Given the description of an element on the screen output the (x, y) to click on. 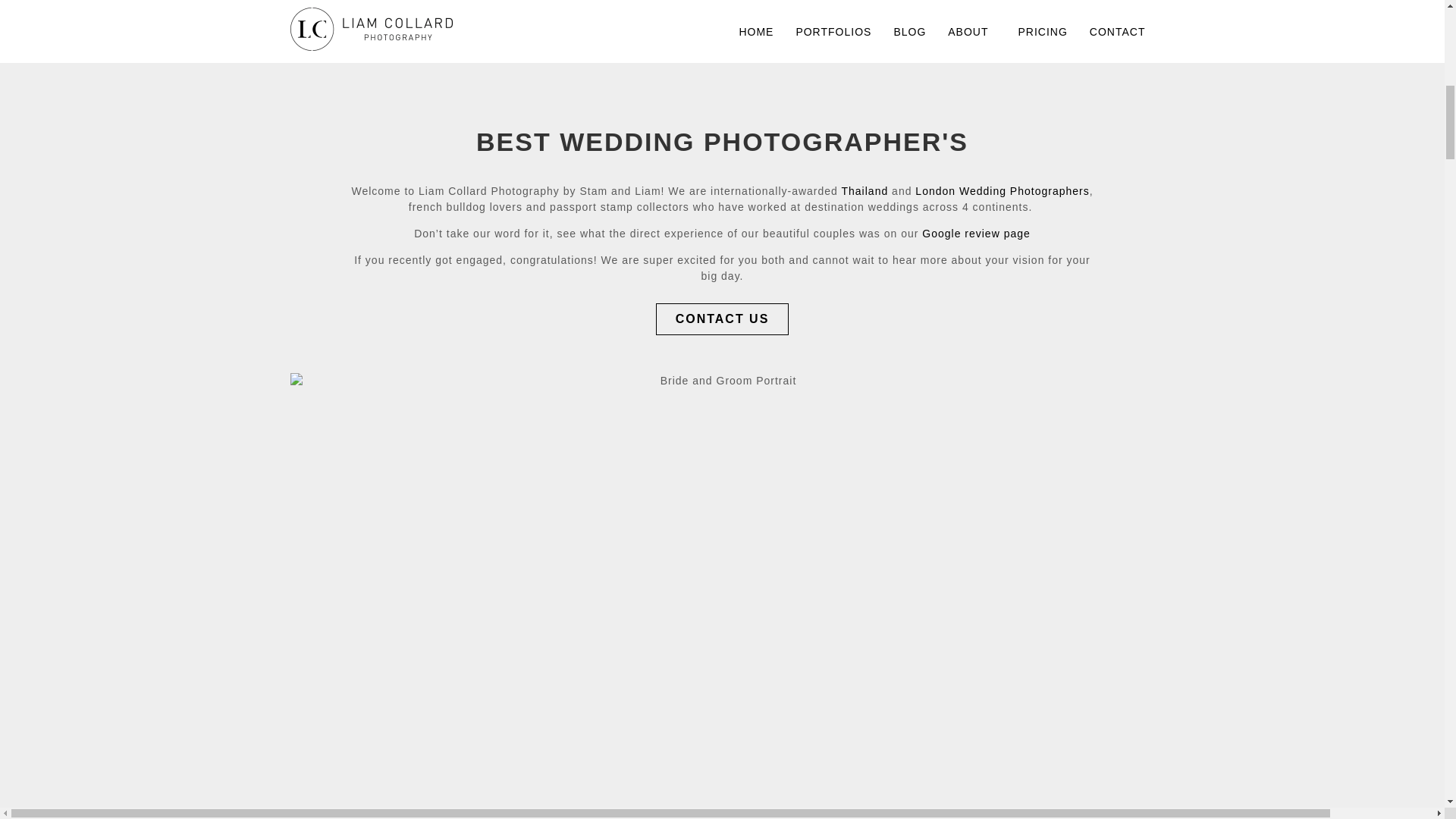
CONTACT (1117, 31)
PORTFOLIOS (833, 31)
BLOG (908, 31)
CONTACT US (722, 318)
ABOUT (971, 31)
Thailand (864, 191)
HOME (756, 31)
London Wedding Photographers (1002, 191)
PRICING (1043, 31)
Google review page (975, 233)
